Given the description of an element on the screen output the (x, y) to click on. 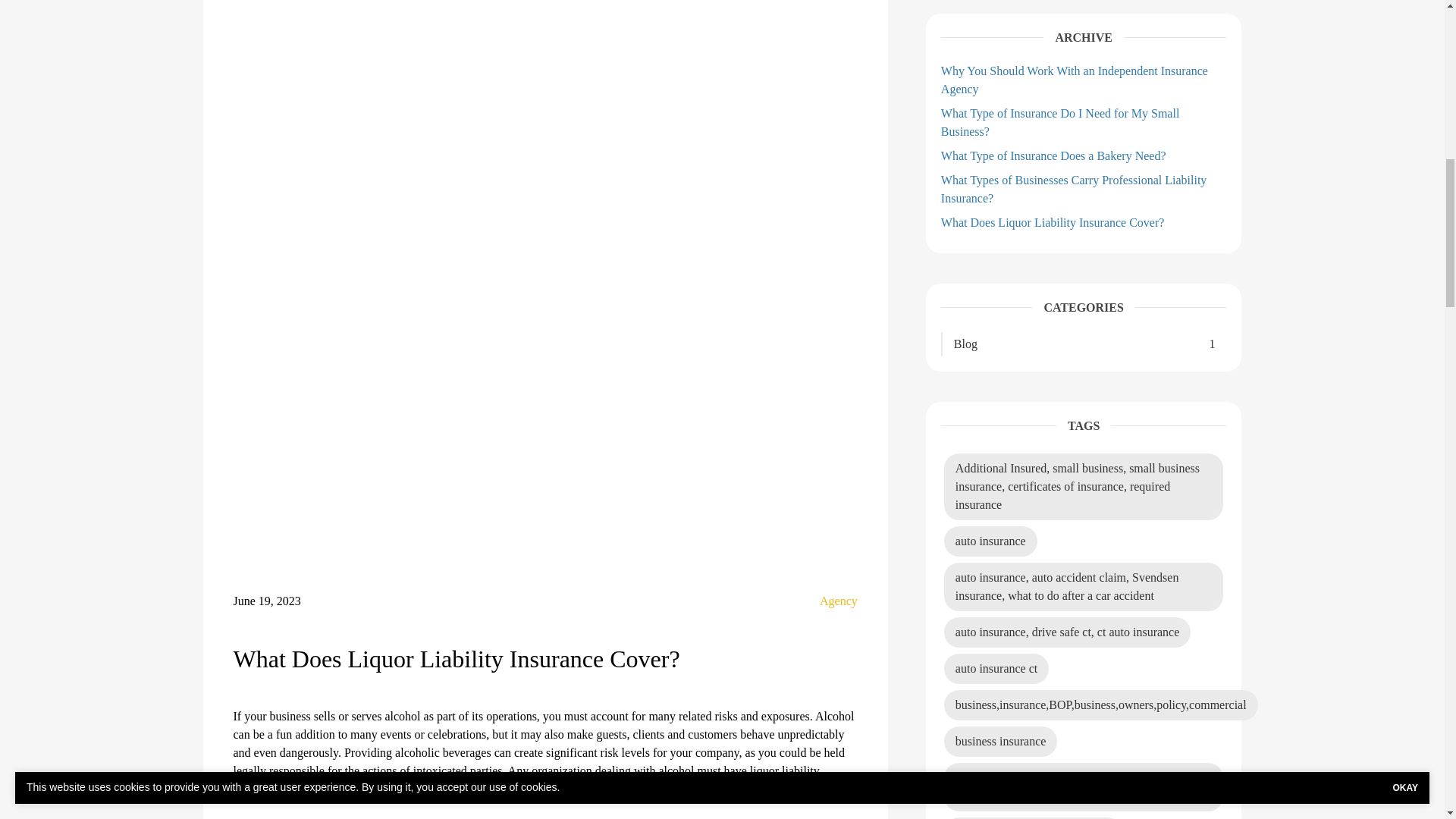
Agency (838, 601)
Agency (838, 601)
